Given the description of an element on the screen output the (x, y) to click on. 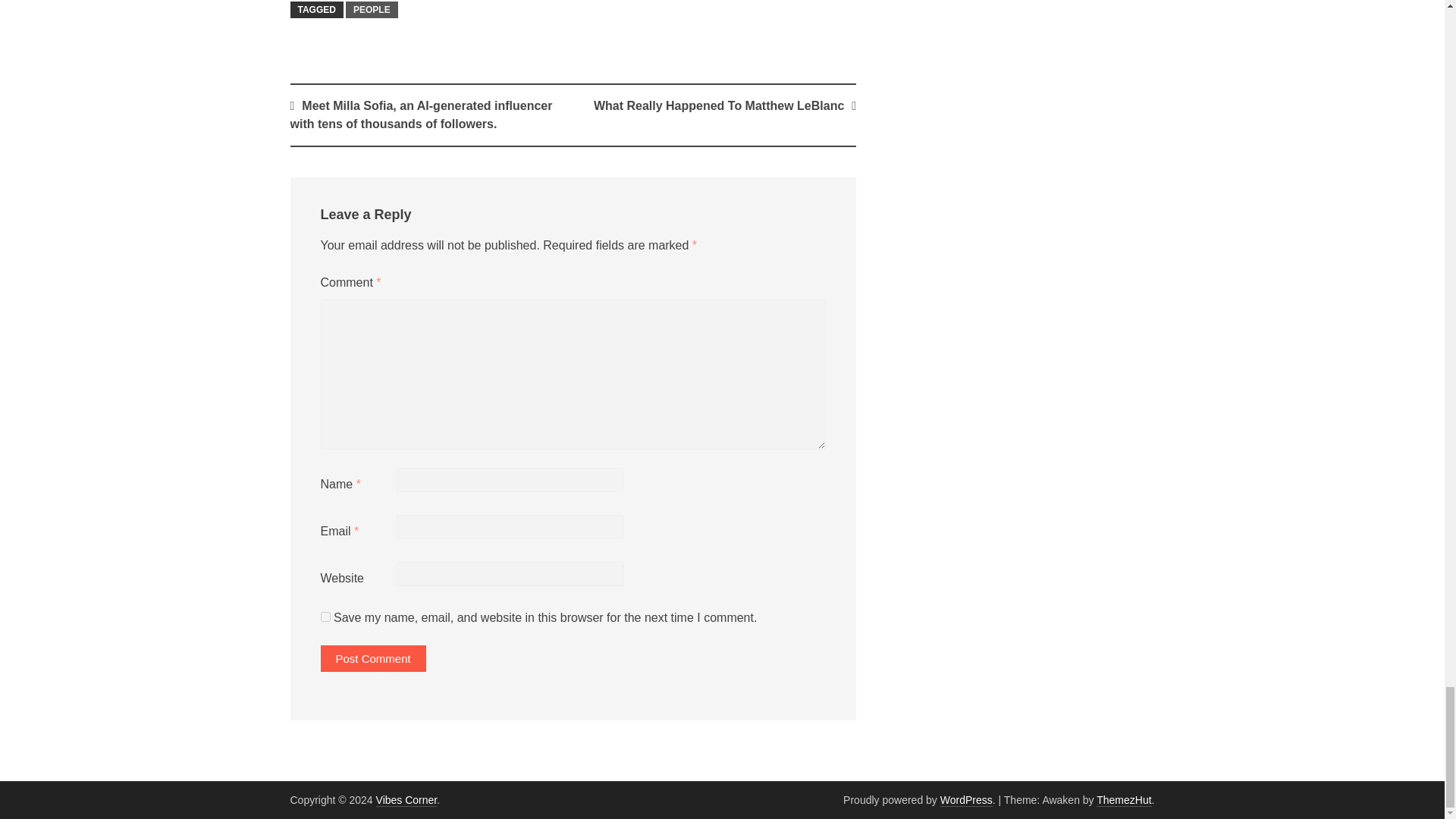
WordPress (966, 799)
yes (325, 616)
Post Comment (372, 658)
WordPress (966, 799)
ThemezHut (1123, 799)
Vibes Corner (406, 799)
Post Comment (372, 658)
PEOPLE (371, 9)
Vibes Corner (406, 799)
